Given the description of an element on the screen output the (x, y) to click on. 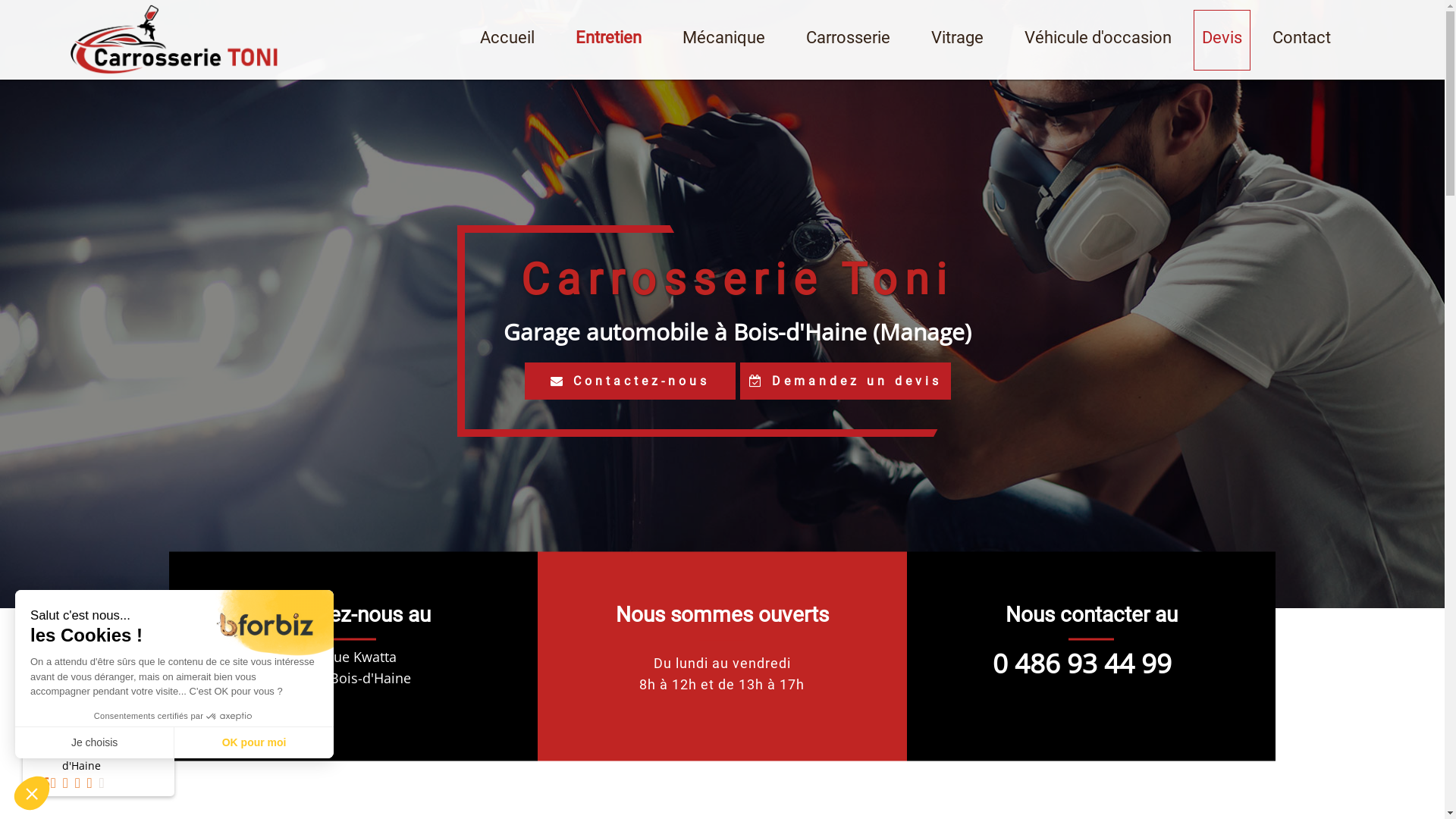
Vitrage Element type: text (957, 39)
Contactez-nous Element type: text (629, 380)
Devis Element type: text (1221, 39)
Entretien Element type: text (608, 39)
Demandez un devis Element type: text (845, 380)
Accueil Element type: text (507, 39)
Contact Element type: text (1301, 39)
Carrosserie Element type: text (848, 39)
Carrosserie Toni Element type: hover (173, 39)
0 486 93 44 99 Element type: text (1081, 621)
